Given the description of an element on the screen output the (x, y) to click on. 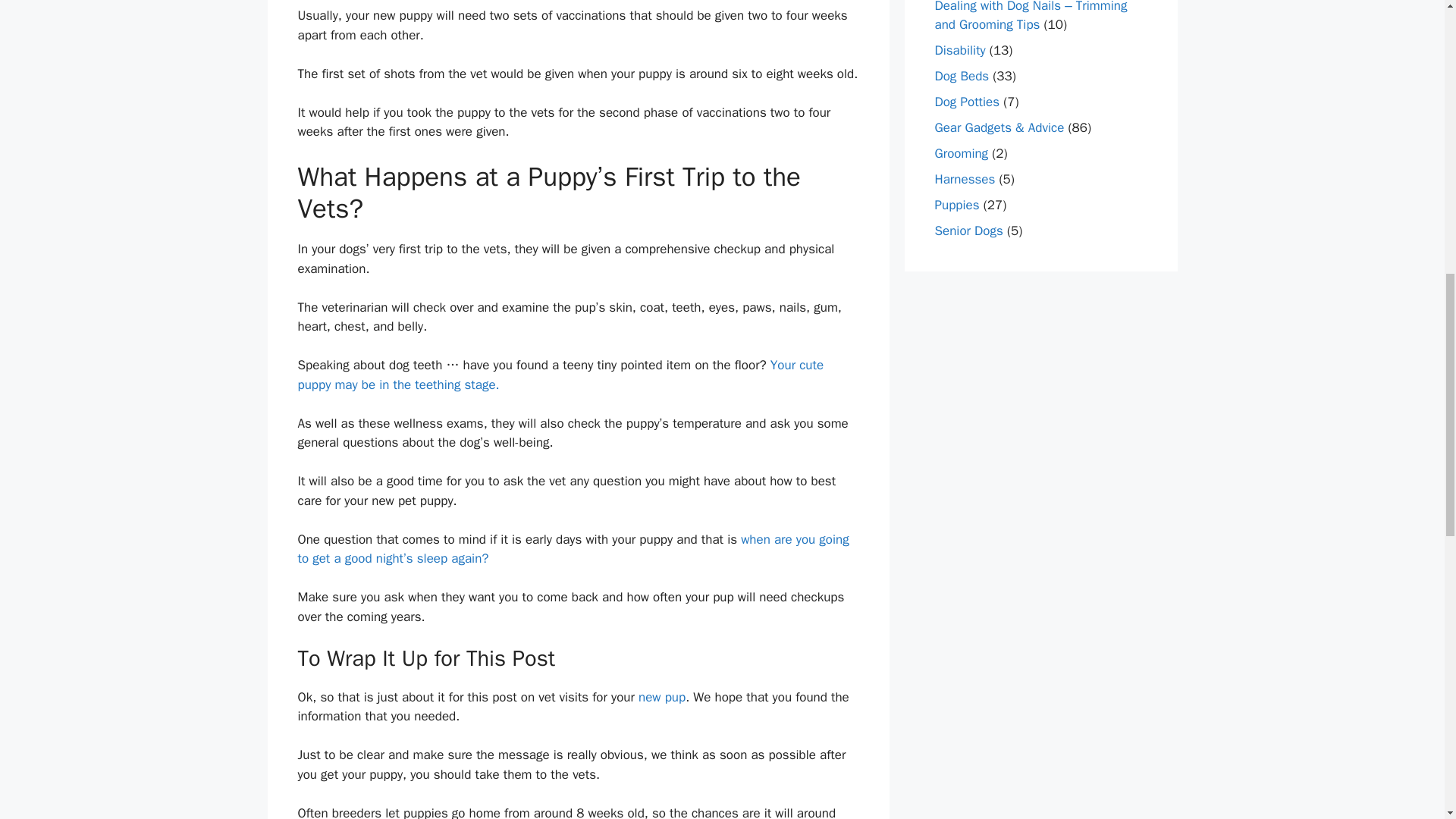
new pup (662, 697)
Dog Potties (966, 101)
Dog Beds (961, 75)
Grooming (961, 153)
Senior Dogs (968, 230)
Scroll back to top (1406, 720)
Disability (959, 50)
Puppies (956, 204)
Your cute puppy may be in the teething stage. (560, 375)
Harnesses (964, 179)
